Given the description of an element on the screen output the (x, y) to click on. 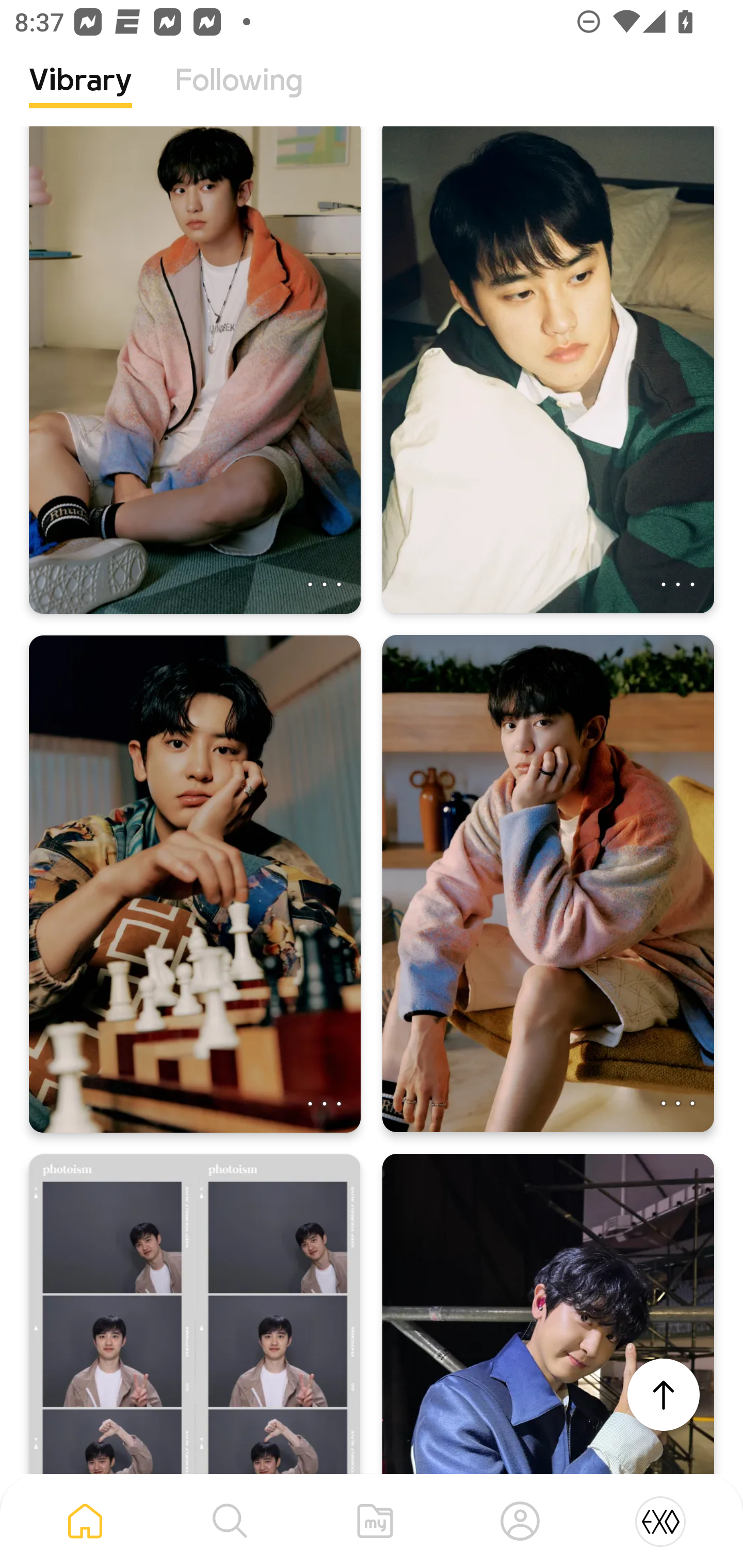
Vibrary (80, 95)
Following (239, 95)
